Given the description of an element on the screen output the (x, y) to click on. 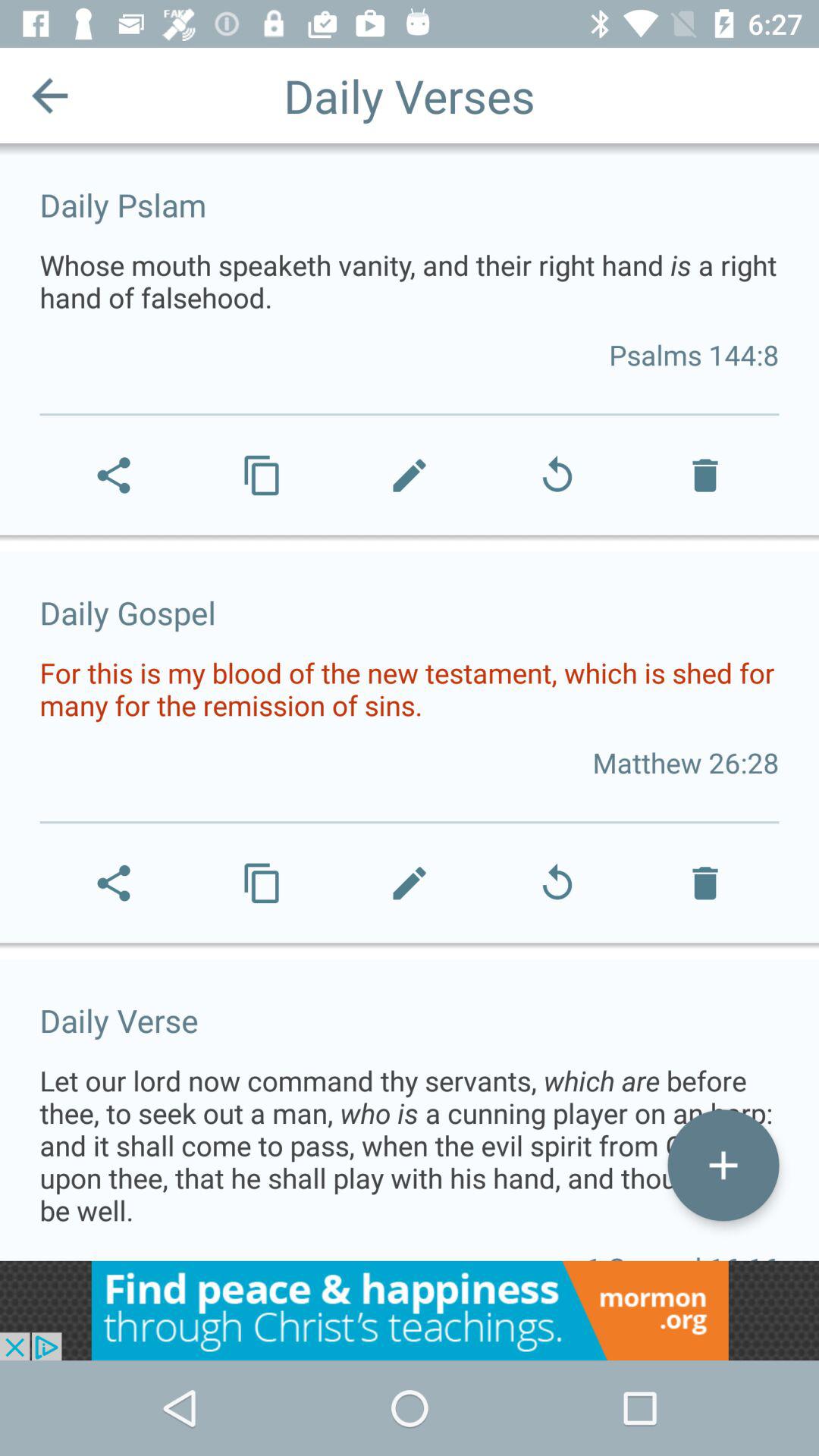
advertisement banner (409, 1310)
